Given the description of an element on the screen output the (x, y) to click on. 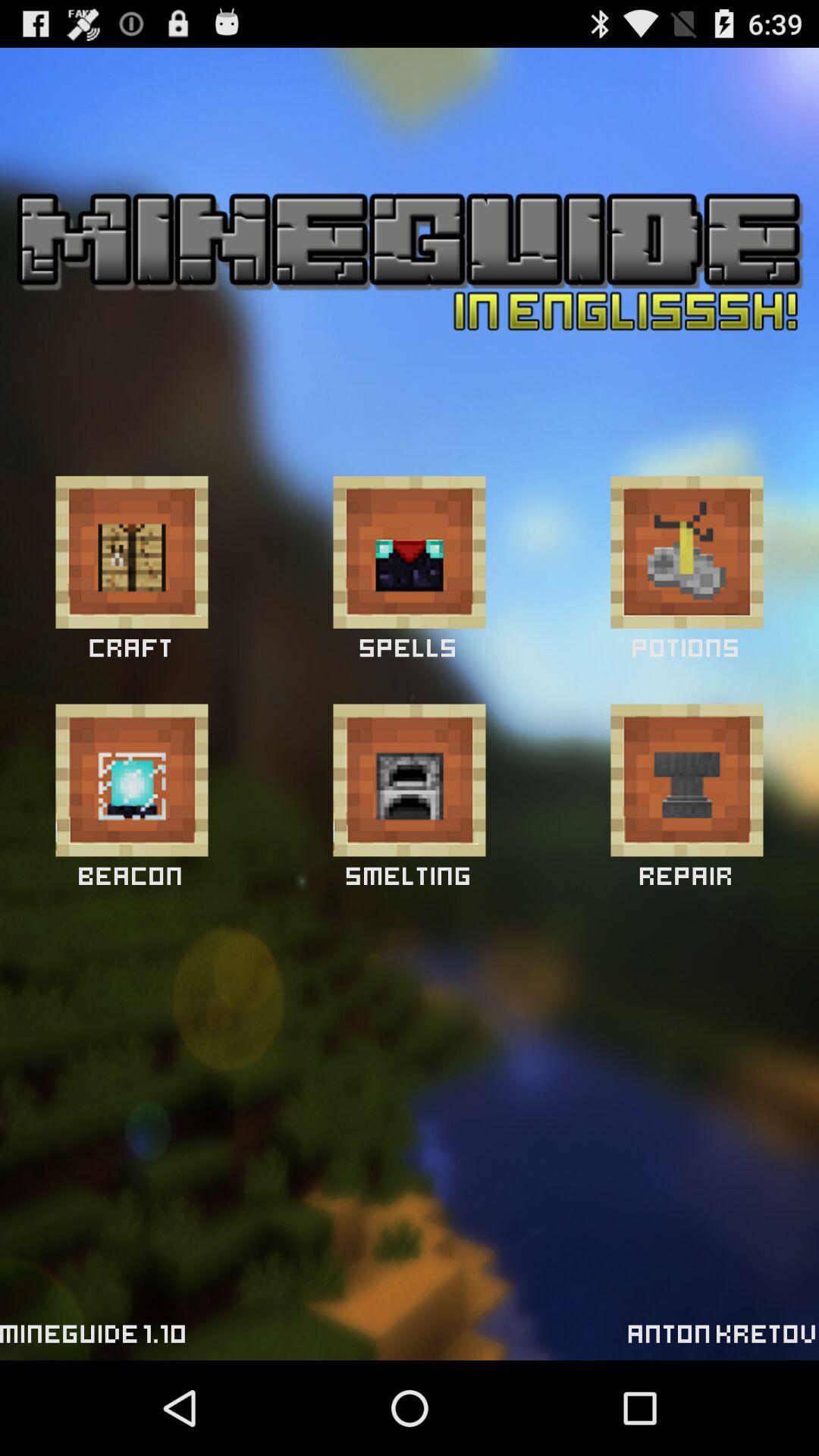
choose the icon below craft icon (131, 780)
